Given the description of an element on the screen output the (x, y) to click on. 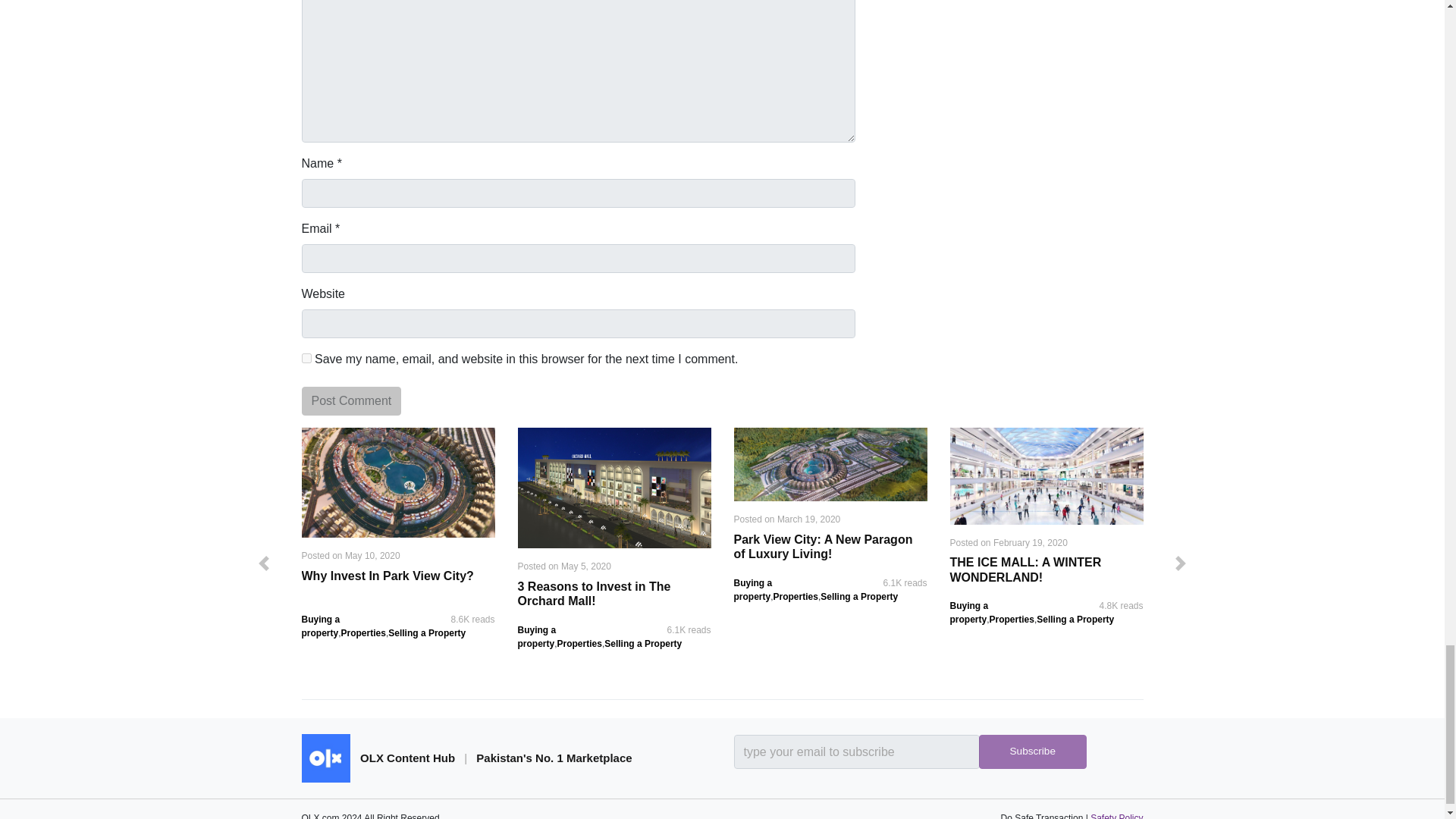
Post Comment (351, 400)
Subscribe (1032, 751)
yes (306, 357)
